Given the description of an element on the screen output the (x, y) to click on. 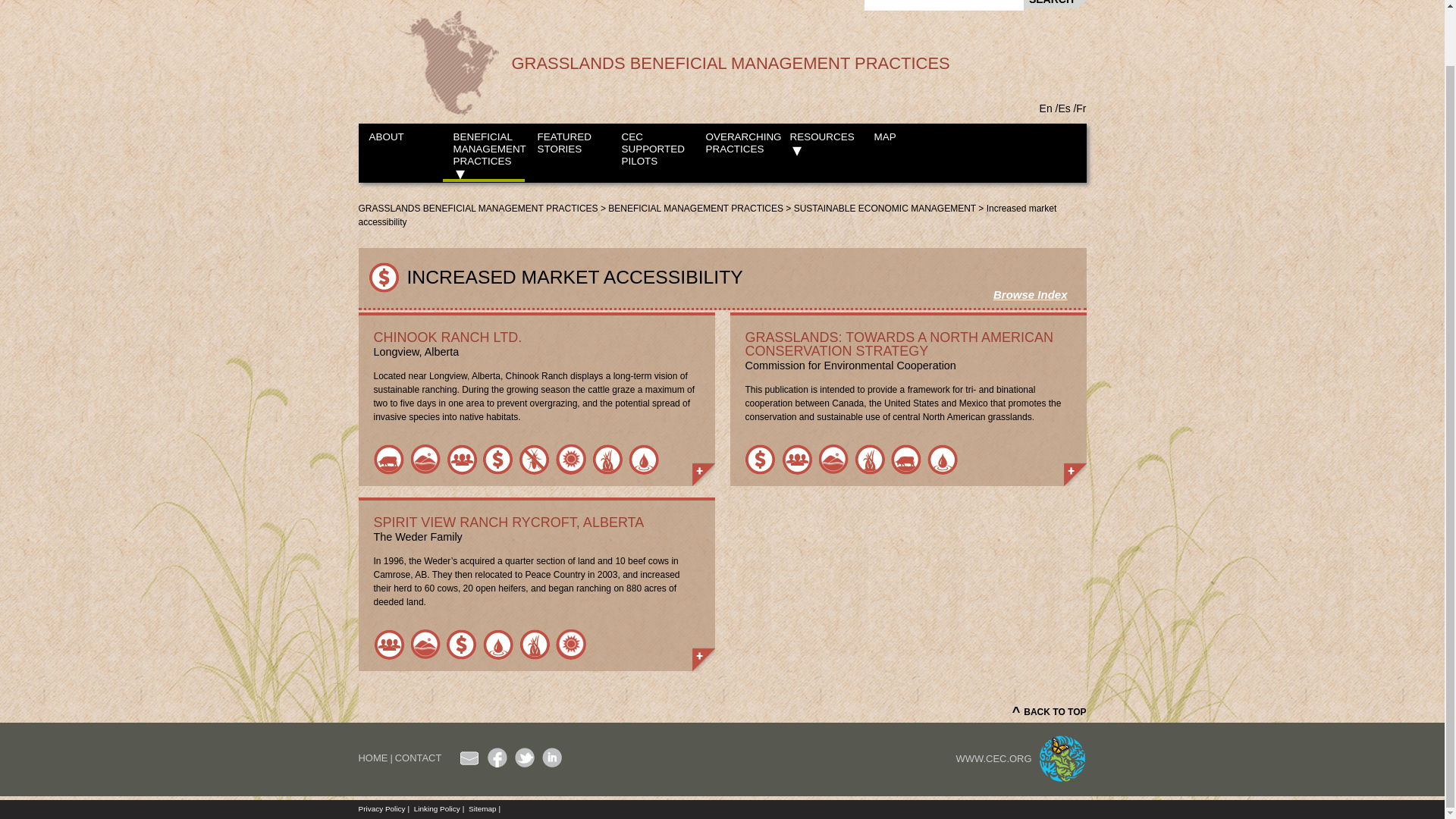
Search (1056, 4)
GRASSLANDS: TOWARDS A NORTH AMERICAN CONSERVATION STRATEGY (907, 343)
RESOURCES (819, 145)
Go to the Sustainable Economic Management category archives. (884, 208)
GRASSLANDS BENEFICIAL MANAGEMENT PRACTICES (477, 208)
SUSTAINABLE ECONOMIC MANAGEMENT (884, 208)
BENEFICIAL MANAGEMENT PRACTICES (695, 208)
Go to Grasslands Beneficial Management Practices. (477, 208)
Sustainable Economic Management (496, 459)
Search (1056, 4)
Browse Index (1029, 294)
Search (1056, 4)
Grazing Management (387, 459)
OVERARCHING PRACTICES (735, 145)
ABOUT (398, 145)
